Given the description of an element on the screen output the (x, y) to click on. 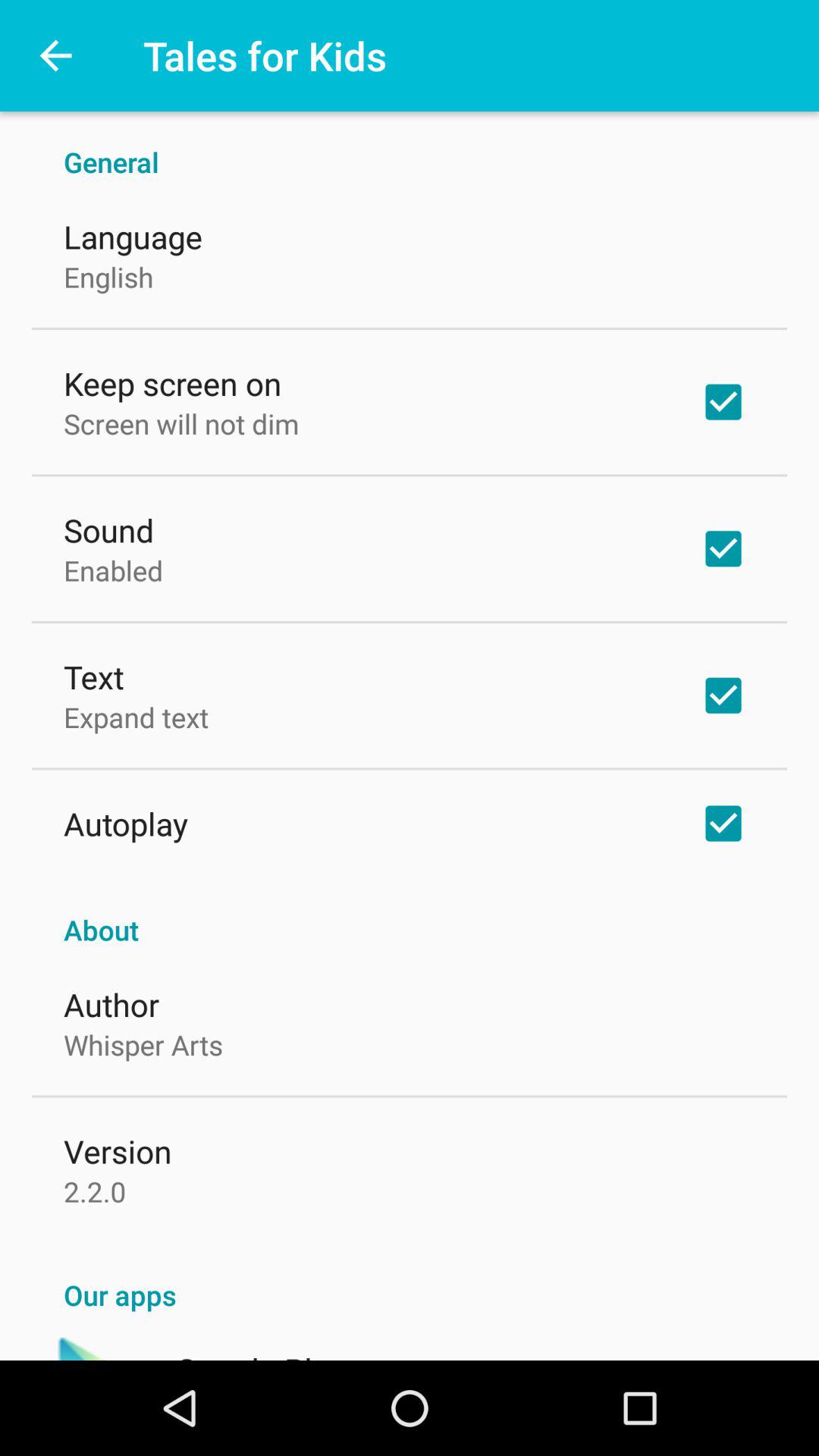
turn on the language icon (132, 236)
